Given the description of an element on the screen output the (x, y) to click on. 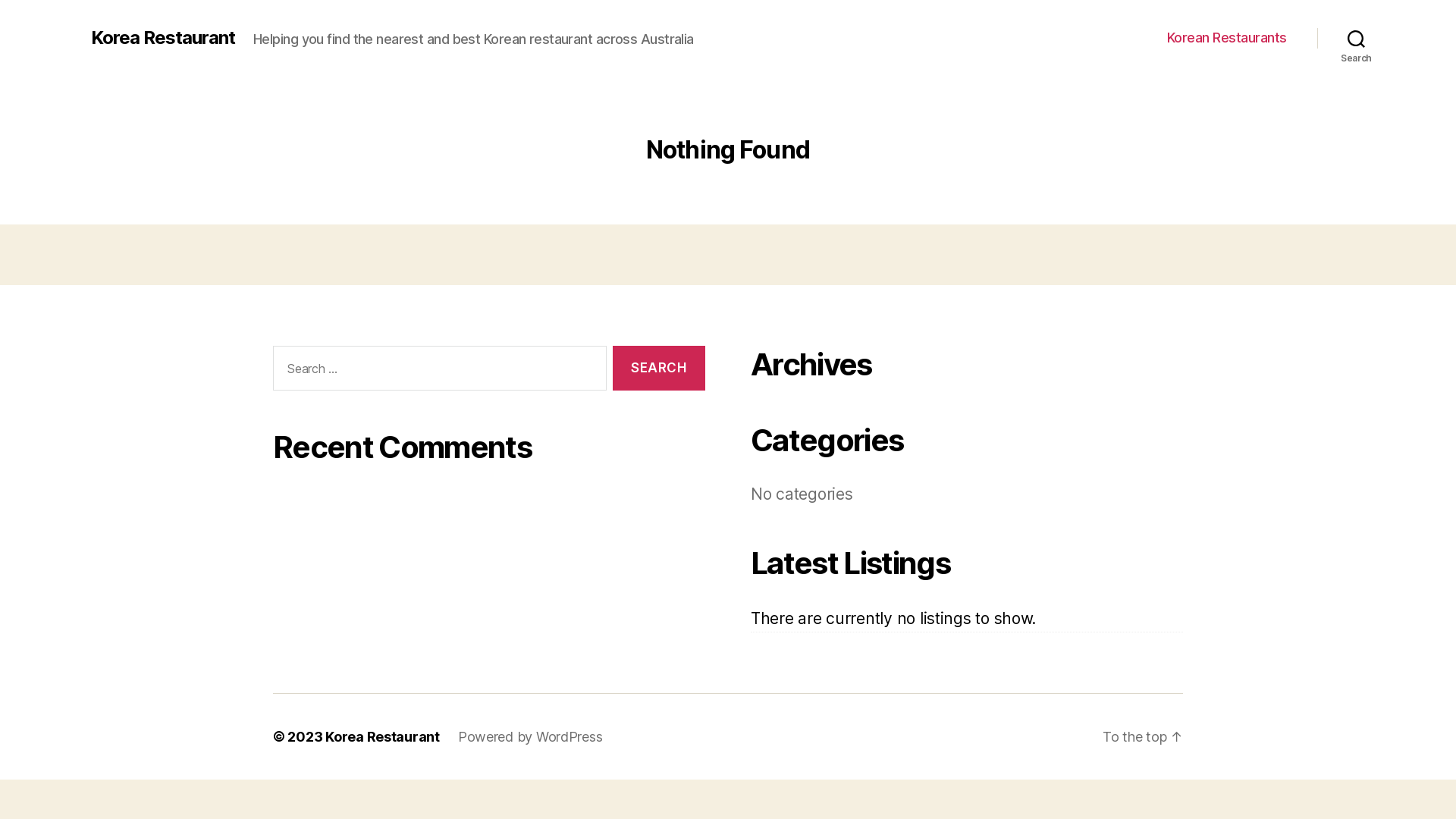
Powered by WordPress Element type: text (530, 736)
Search Element type: text (1356, 37)
Korea Restaurant Element type: text (382, 736)
Korean Restaurants Element type: text (1226, 37)
Search Element type: text (658, 367)
Korea Restaurant Element type: text (163, 37)
